Given the description of an element on the screen output the (x, y) to click on. 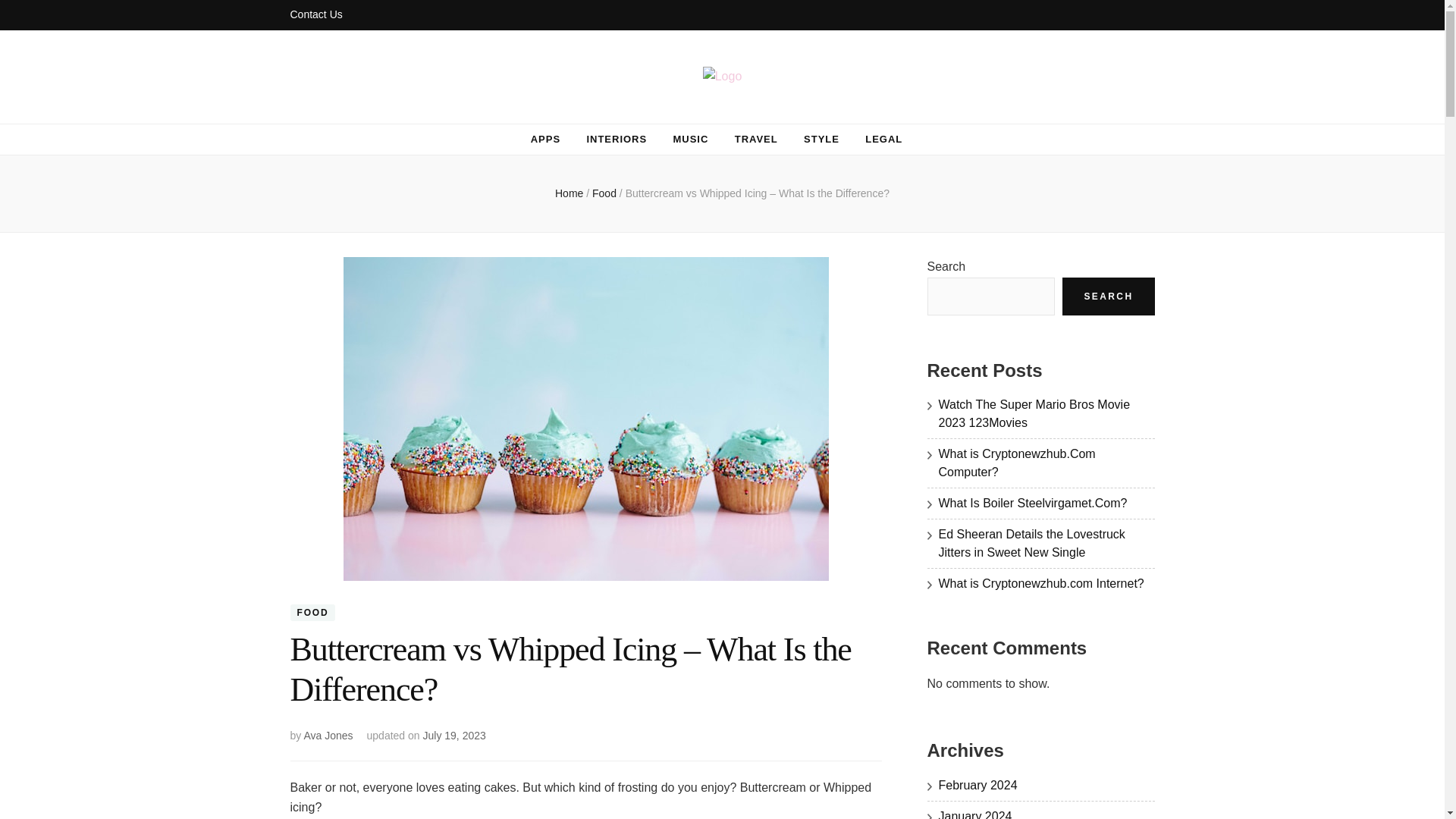
STYLE (821, 139)
TRAVEL (756, 139)
July 19, 2023 (454, 735)
INTERIORS (616, 139)
LEGAL (883, 139)
APPS (545, 139)
Ava Jones (327, 735)
Home (568, 193)
Food (606, 193)
FOOD (311, 612)
Contact Us (315, 15)
MUSIC (690, 139)
